Given the description of an element on the screen output the (x, y) to click on. 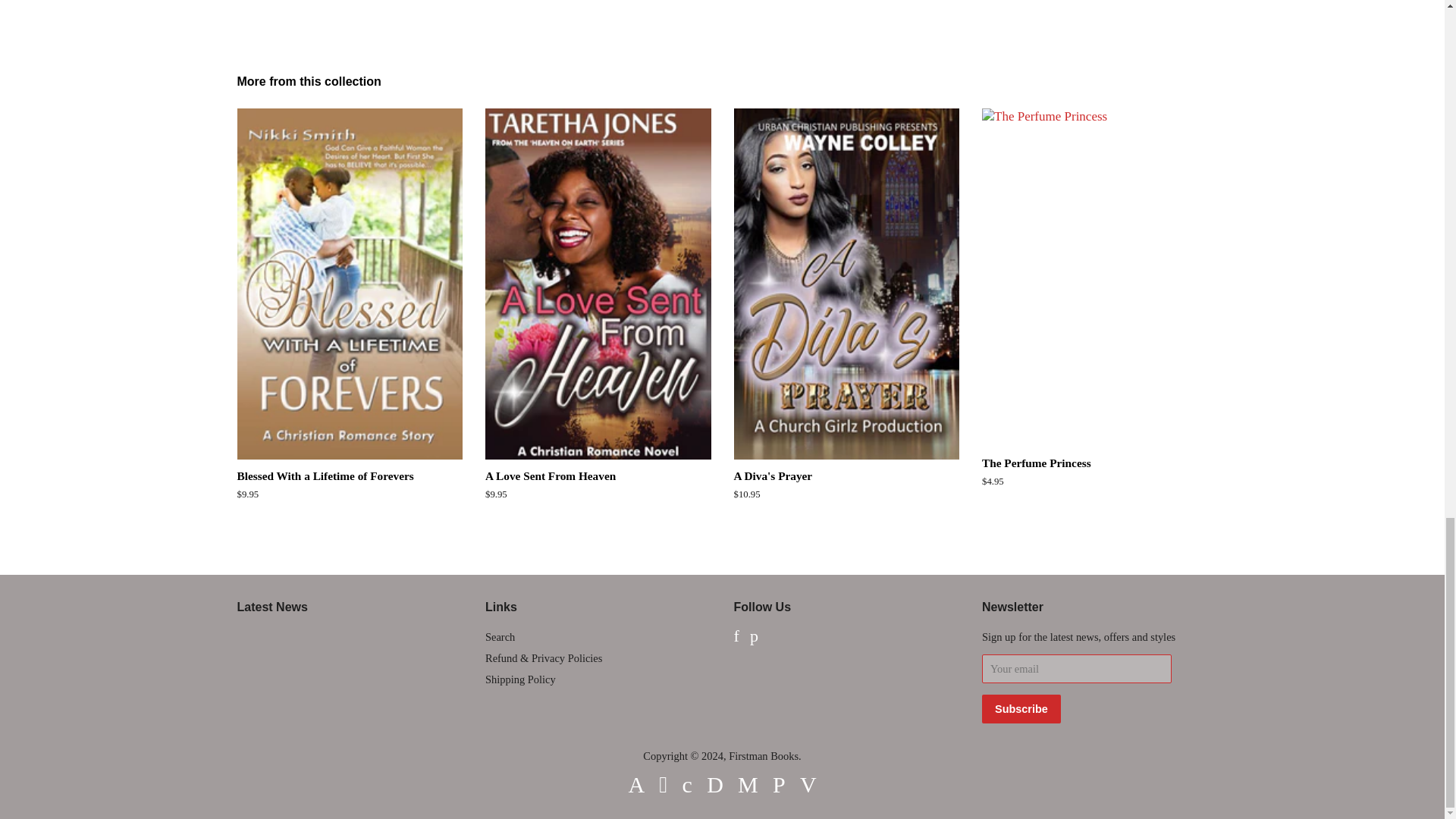
Firstman Books on Pinterest (753, 637)
Subscribe (1021, 708)
Search (499, 636)
Firstman Books on Facebook (736, 637)
Latest News (271, 606)
